Given the description of an element on the screen output the (x, y) to click on. 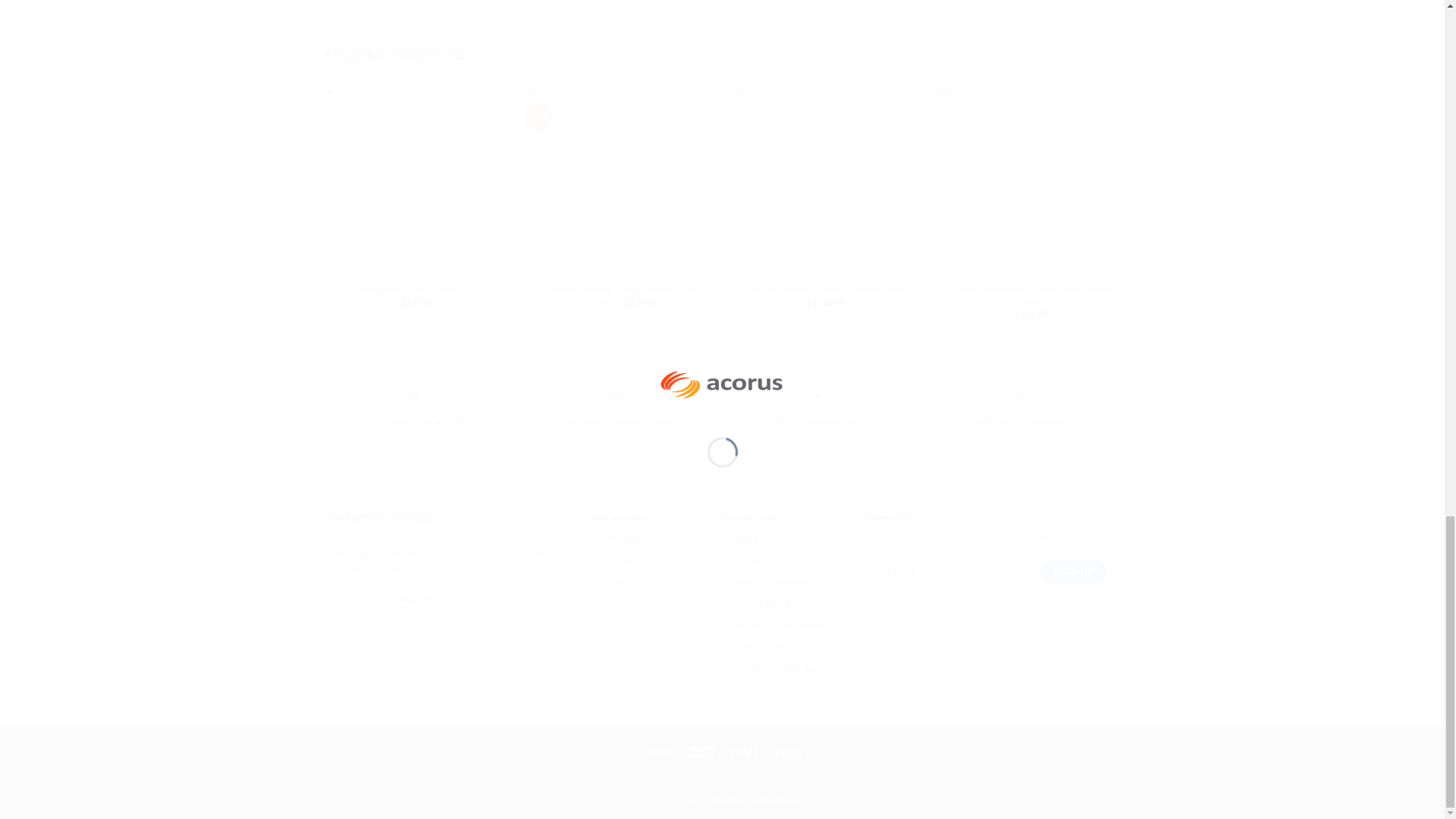
Sign Up (1073, 571)
